Given the description of an element on the screen output the (x, y) to click on. 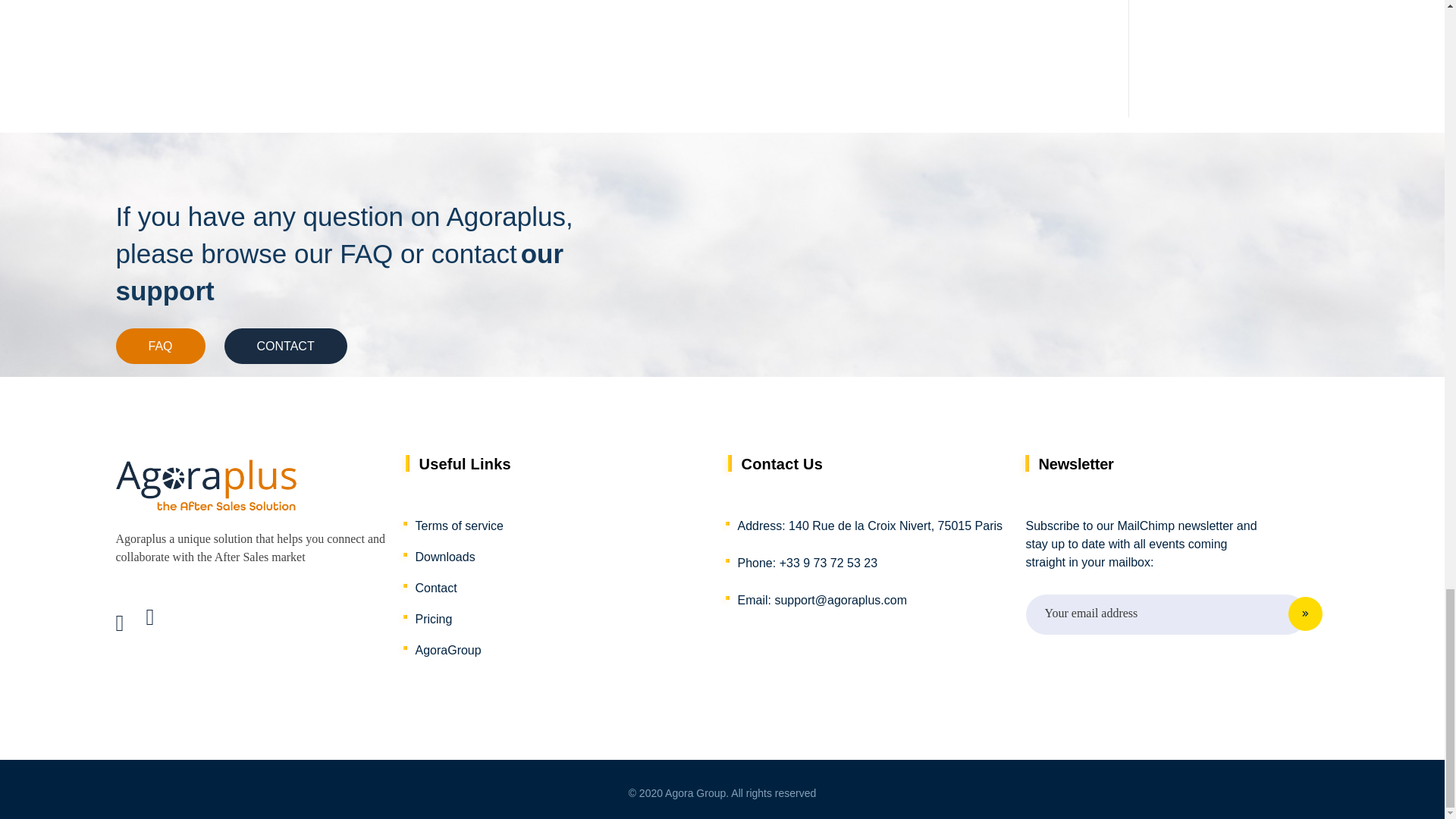
Envoyer (1305, 614)
